Given the description of an element on the screen output the (x, y) to click on. 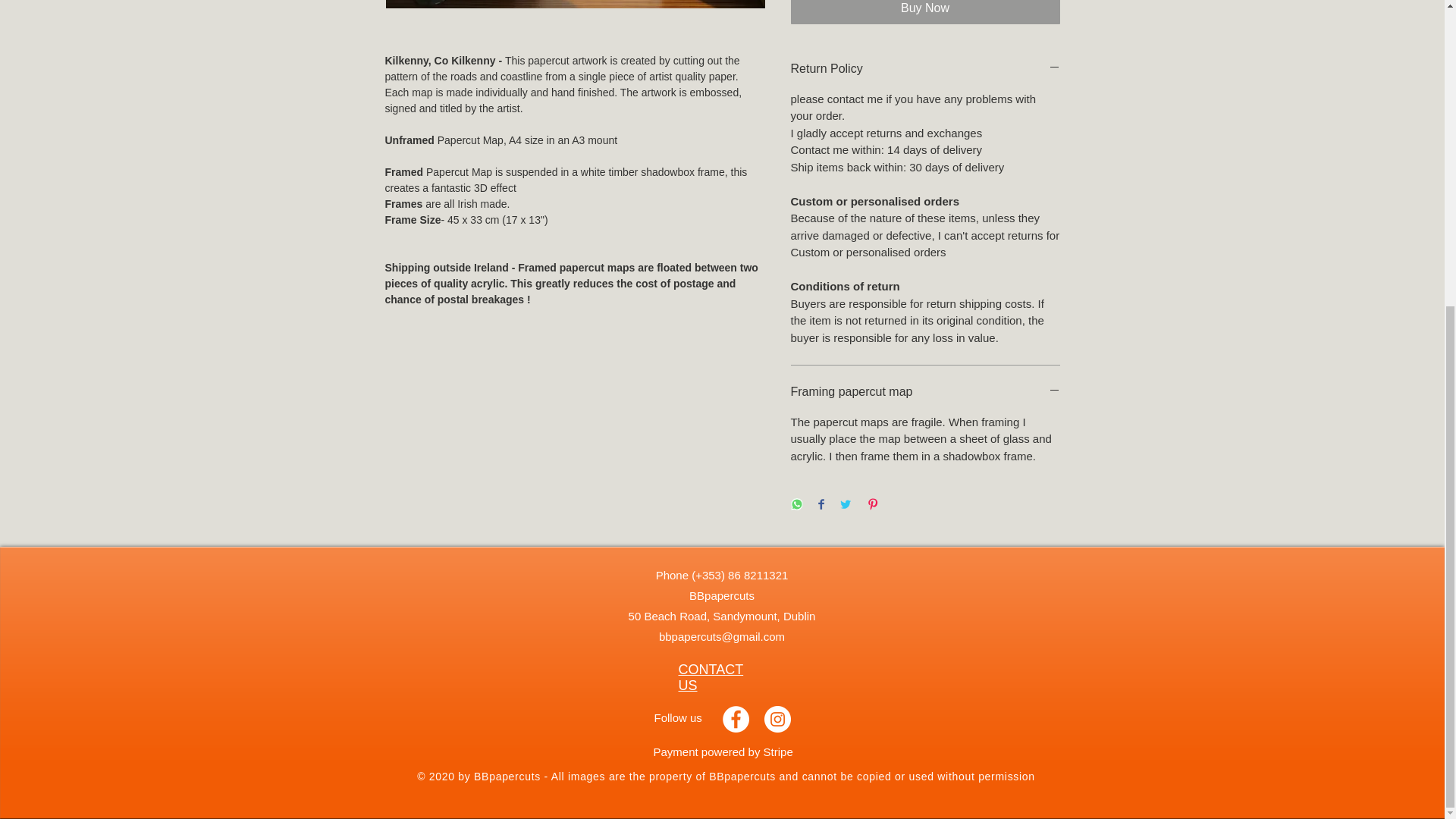
Return Policy (924, 68)
CONTACT US (710, 676)
Buy Now (924, 12)
BBpapercuts (721, 594)
Framing papercut map (924, 392)
